Given the description of an element on the screen output the (x, y) to click on. 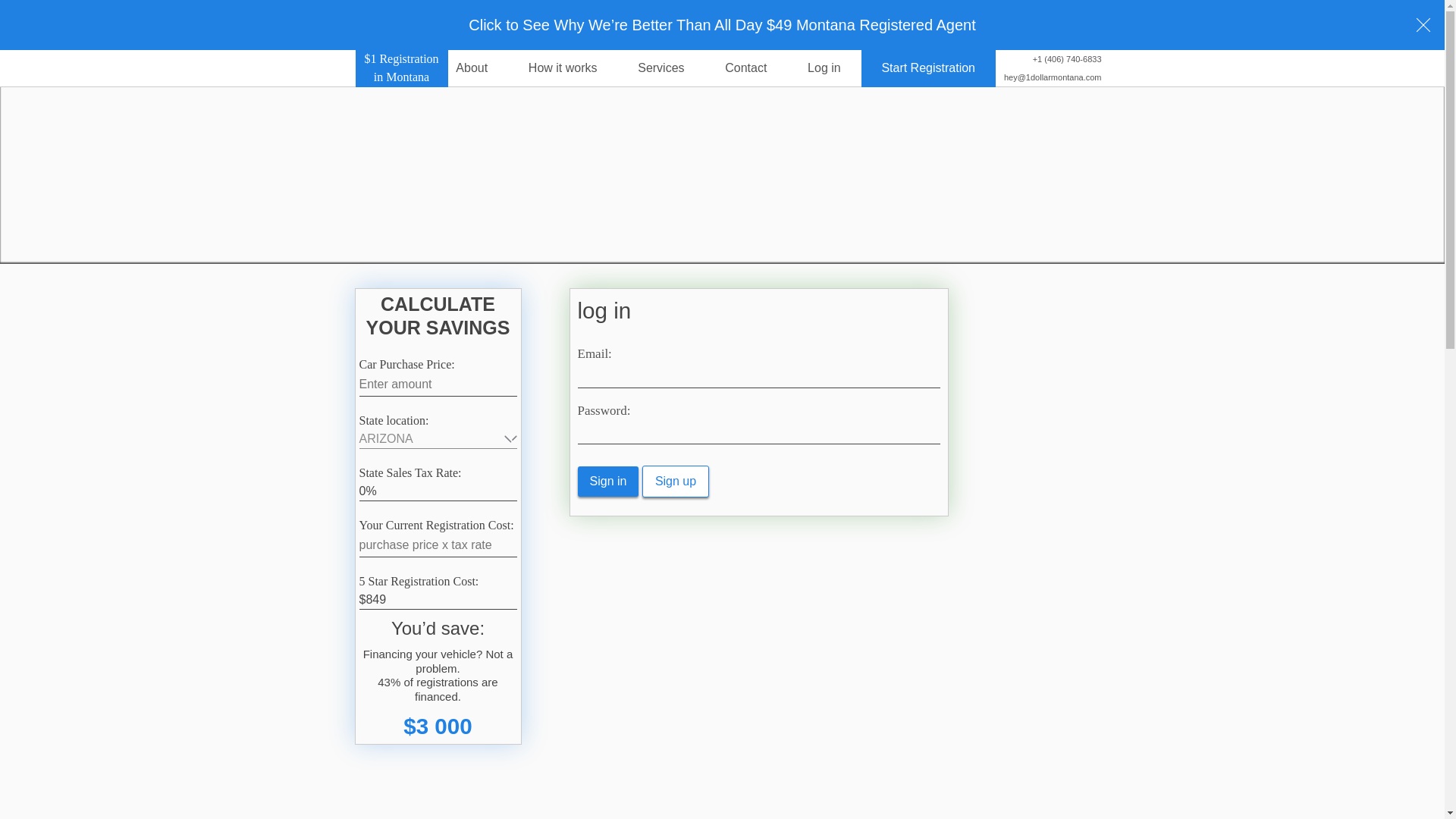
Sign in Element type: text (608, 481)
+1 (406) 740-6833 Element type: text (1048, 59)
$1 Registration
in Montana Element type: text (400, 68)
About Element type: text (471, 68)
Start Registration Element type: text (928, 68)
How it works Element type: text (562, 68)
Log in Element type: text (823, 68)
Sign up Element type: text (675, 481)
Contact Element type: text (745, 68)
Services Element type: text (660, 68)
hey@1dollarmontana.com Element type: text (1048, 77)
